Given the description of an element on the screen output the (x, y) to click on. 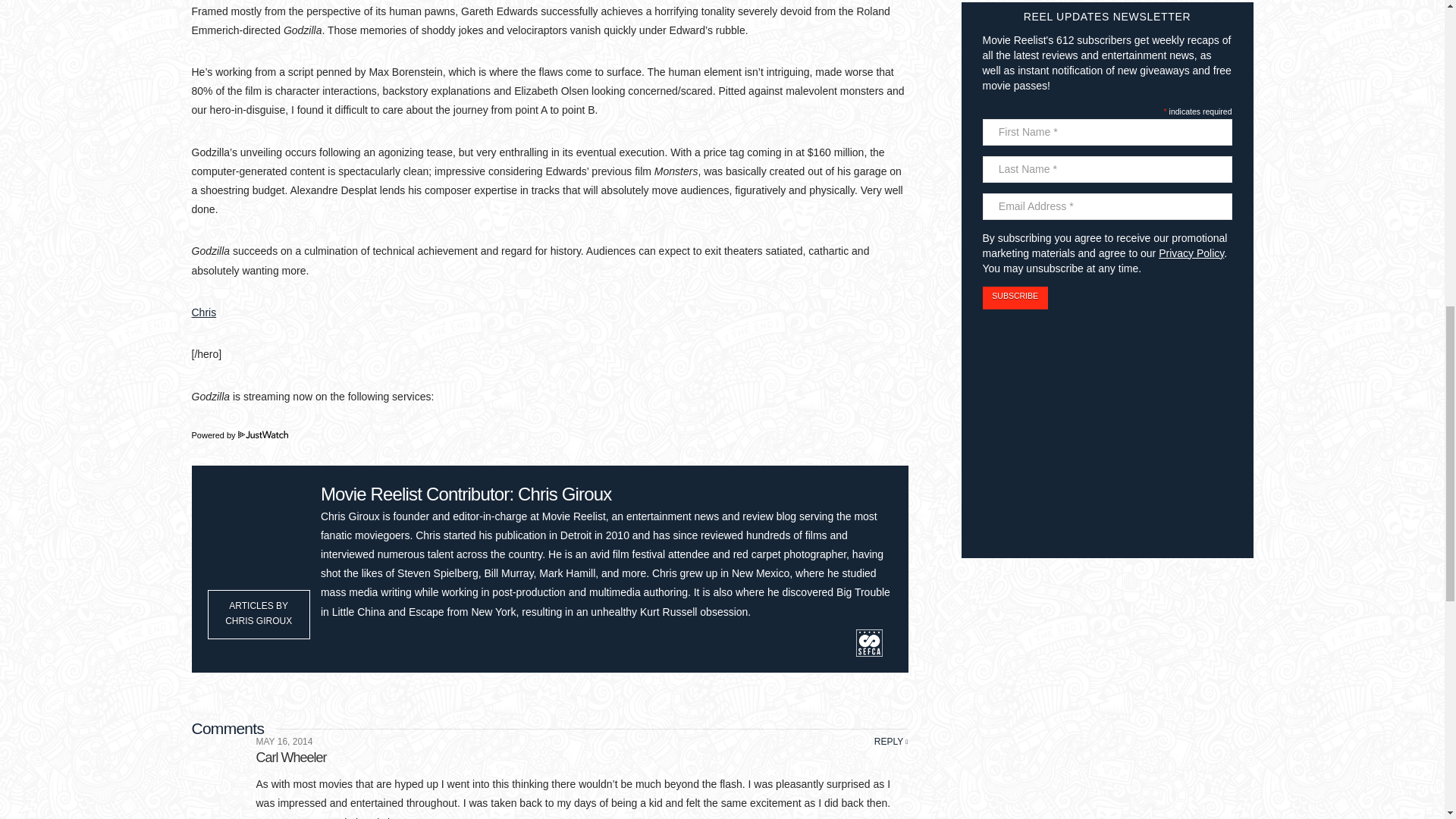
View on Instagram (440, 640)
Subscribe (1015, 297)
Like on Facebook (386, 640)
Follow on Twitter (414, 640)
Professional Critic Affiliation (869, 642)
Send an Email (359, 640)
Visit my Website (331, 640)
